Given the description of an element on the screen output the (x, y) to click on. 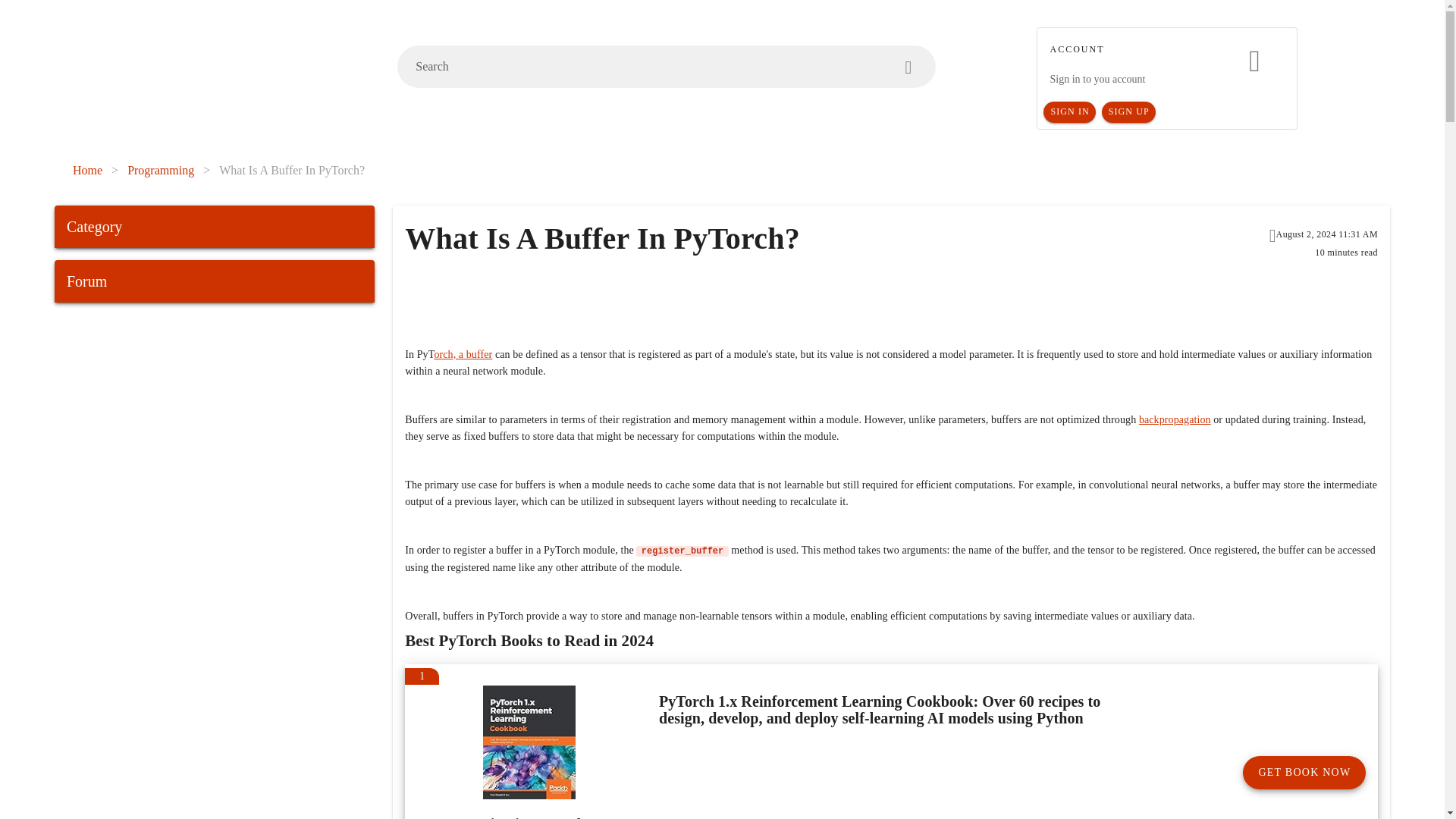
Programming (160, 170)
GET BOOK NOW (1304, 772)
What Is A Buffer In PyTorch? (292, 170)
SIGN UP (1129, 111)
Home (86, 170)
backpropagation (1174, 419)
SIGN IN (1068, 111)
orch, a buffer (462, 354)
